Given the description of an element on the screen output the (x, y) to click on. 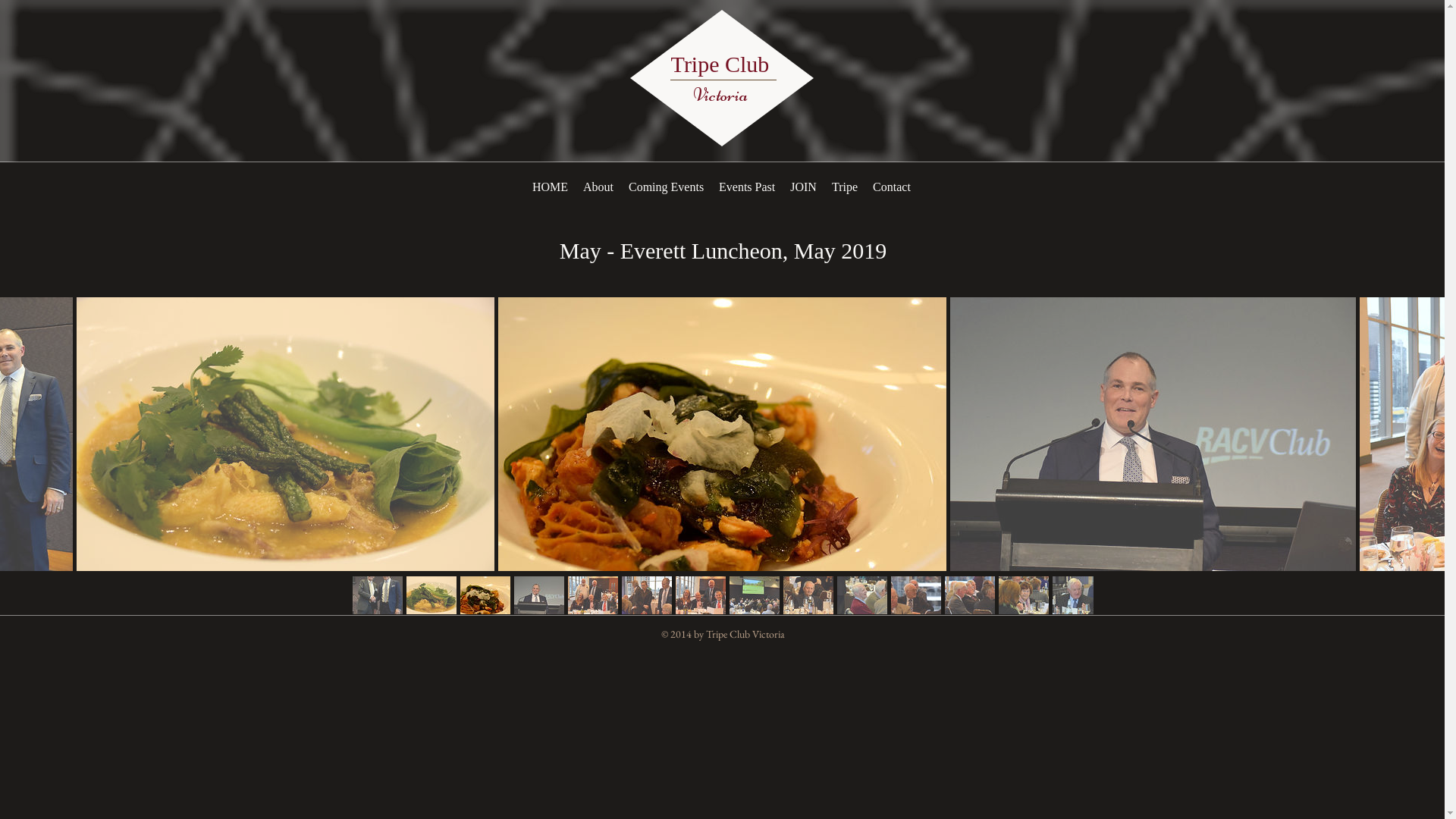
About Element type: text (598, 186)
HOME Element type: text (549, 186)
Coming Events Element type: text (666, 186)
Events Past Element type: text (746, 186)
Contact Element type: text (891, 186)
Tripe Element type: text (844, 186)
JOIN Element type: text (803, 186)
